Given the description of an element on the screen output the (x, y) to click on. 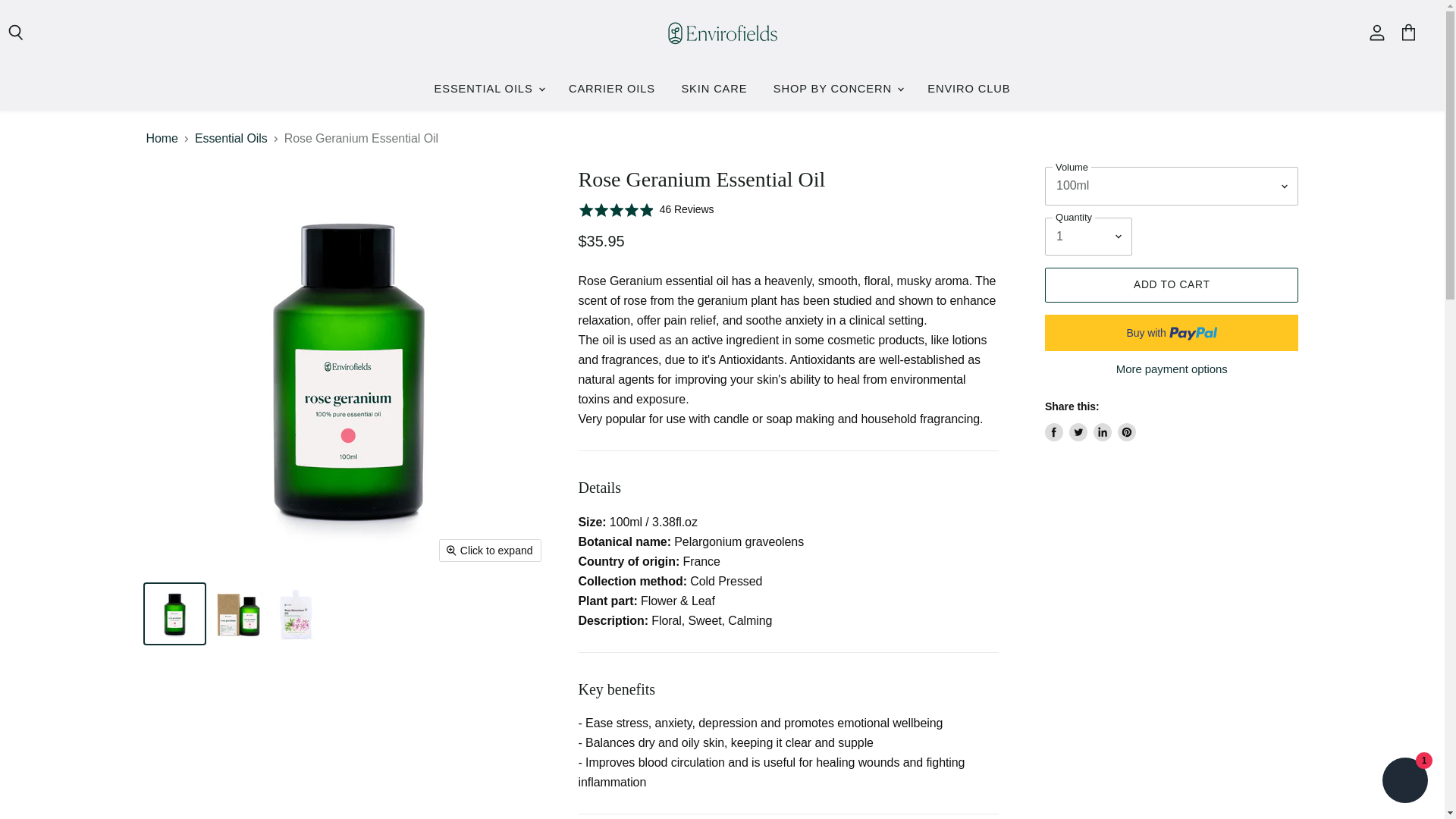
SKIN CARE (713, 88)
Click to expand (489, 550)
Shopify online store chat (1404, 781)
Home (161, 138)
ENVIRO CLUB (968, 88)
Essential Oils (231, 138)
Search (16, 32)
SHOP BY CONCERN (836, 88)
ESSENTIAL OILS (488, 88)
CARRIER OILS (611, 88)
View account (1376, 32)
View cart (1408, 32)
